Given the description of an element on the screen output the (x, y) to click on. 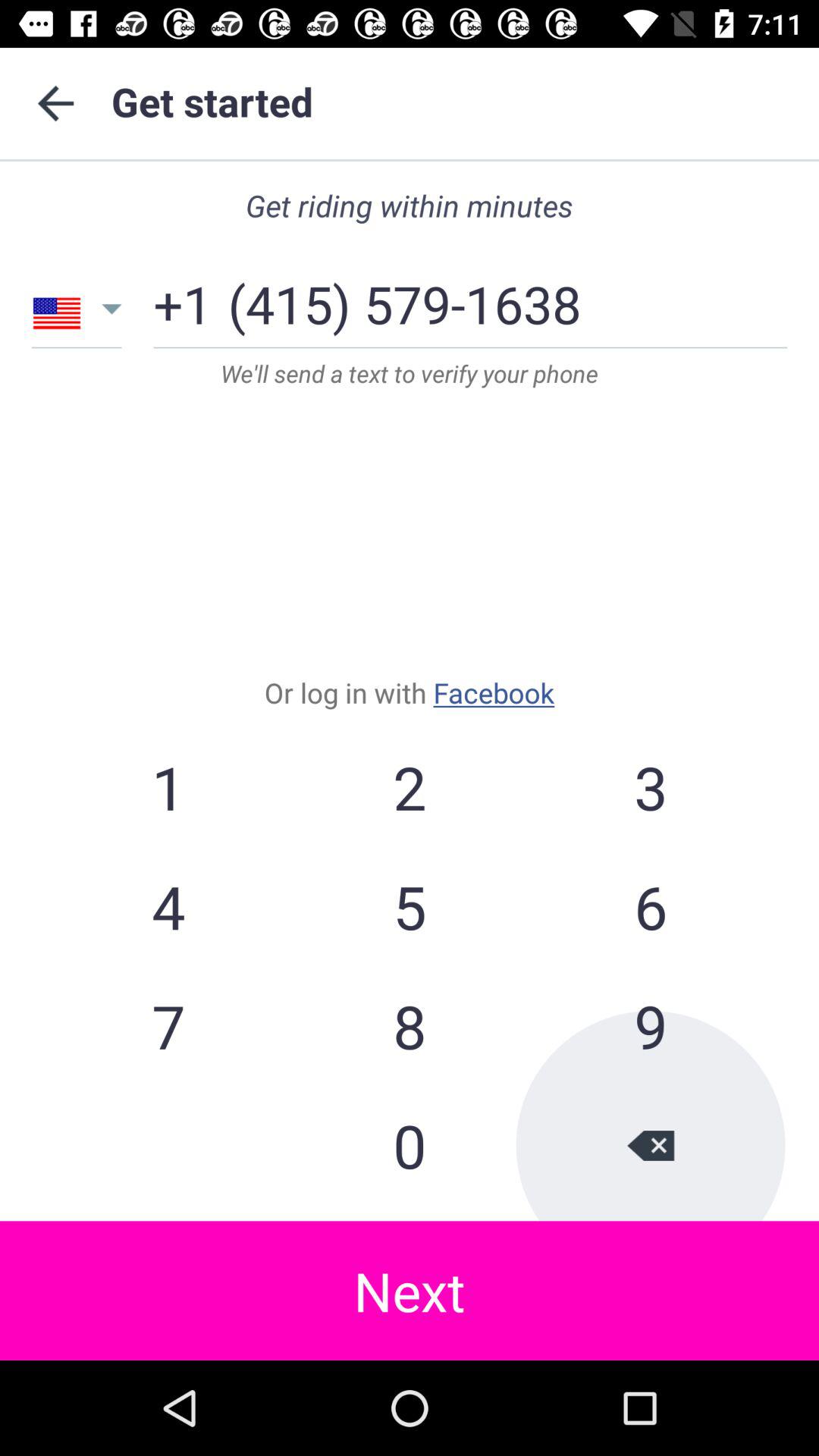
click item above 5 (650, 786)
